Given the description of an element on the screen output the (x, y) to click on. 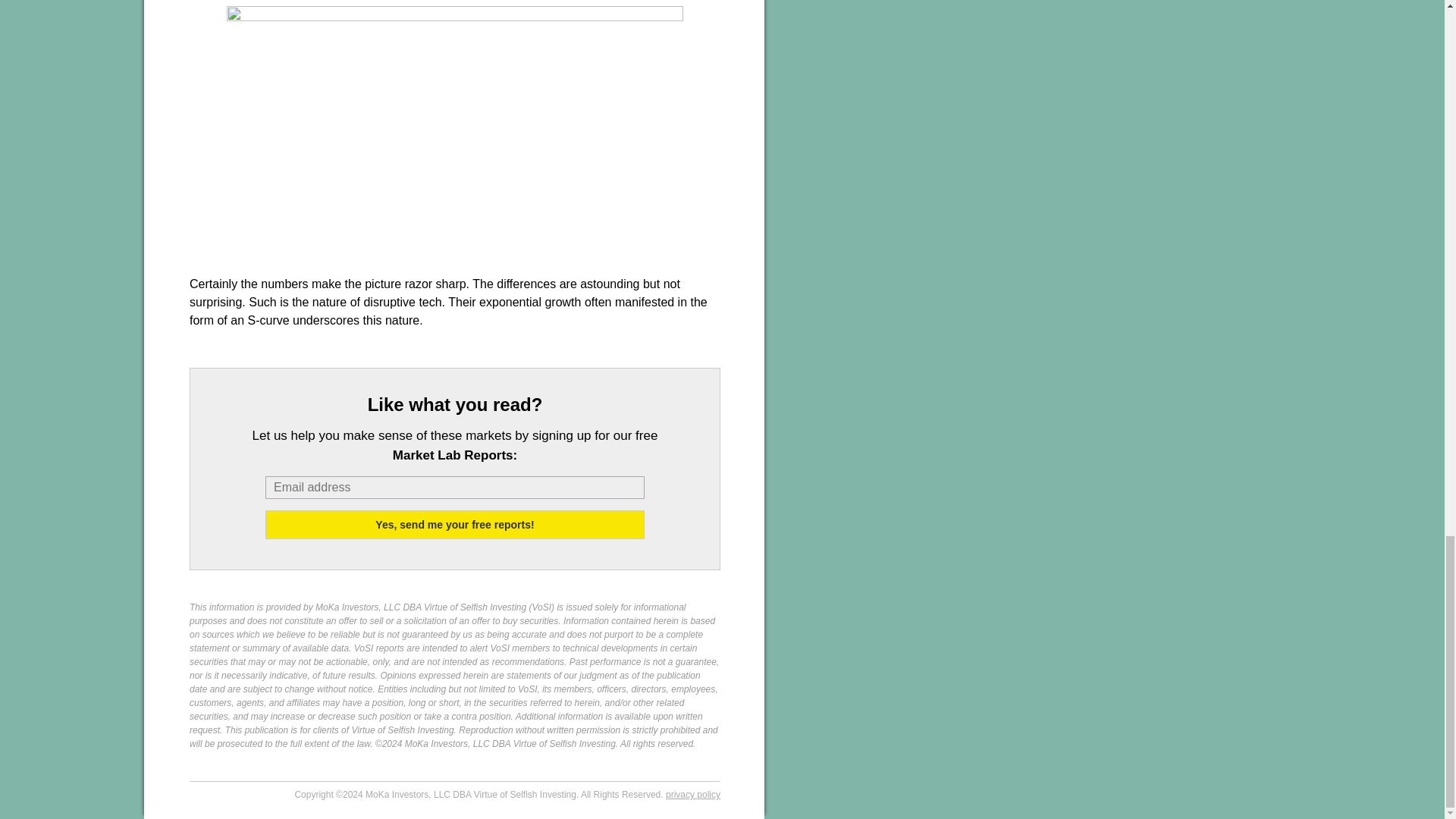
privacy policy (692, 794)
Yes, send me your free reports! (454, 524)
Yes, send me your free reports! (454, 524)
